Given the description of an element on the screen output the (x, y) to click on. 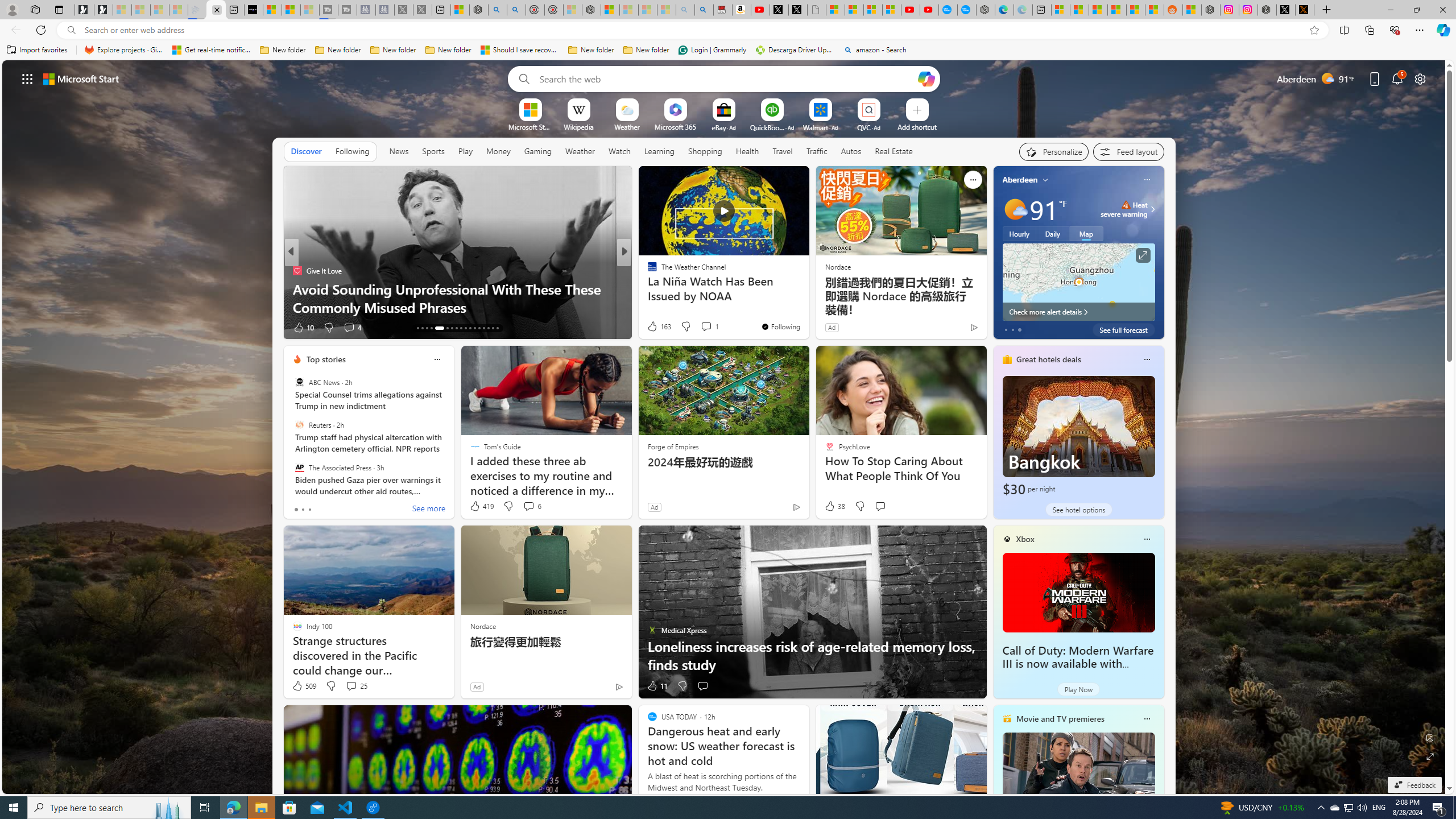
View comments 2 Comment (698, 327)
Login | Grammarly (712, 49)
Learning (658, 151)
Xbox (1025, 538)
Mostly sunny (1014, 208)
Expand background (1430, 756)
View comments 124 Comment (703, 327)
